Given the description of an element on the screen output the (x, y) to click on. 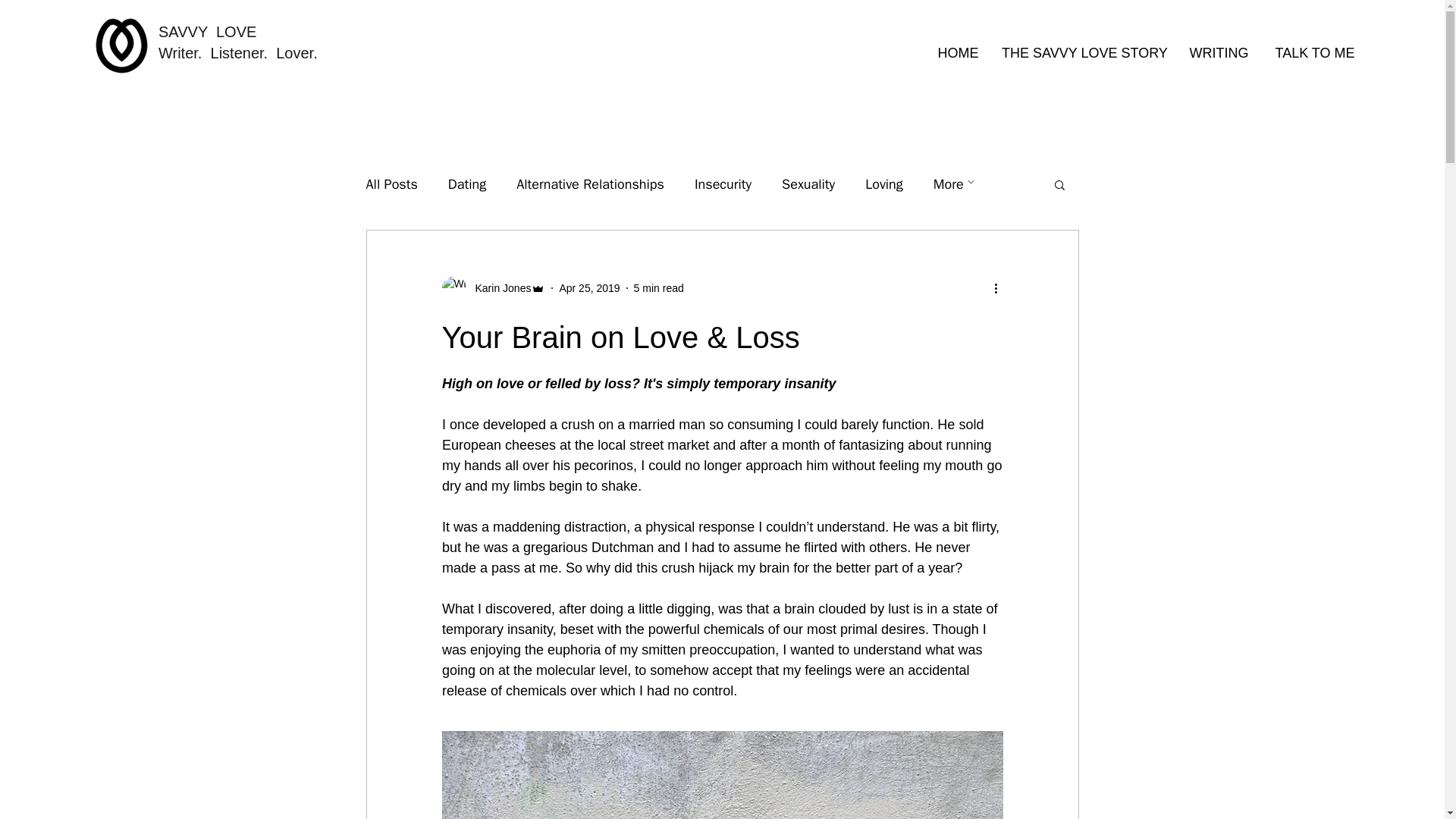
Alternative Relationships (589, 184)
Dating (467, 184)
SAVVY  LOVE (207, 31)
WRITING (1219, 53)
5 min read (658, 287)
THE SAVVY LOVE STORY (1084, 53)
HOME (957, 53)
TALK TO ME (1315, 53)
All Posts (390, 184)
Karin Jones (492, 288)
Loving (883, 184)
Karin Jones (498, 288)
Apr 25, 2019 (589, 287)
Sexuality (807, 184)
Insecurity (722, 184)
